Given the description of an element on the screen output the (x, y) to click on. 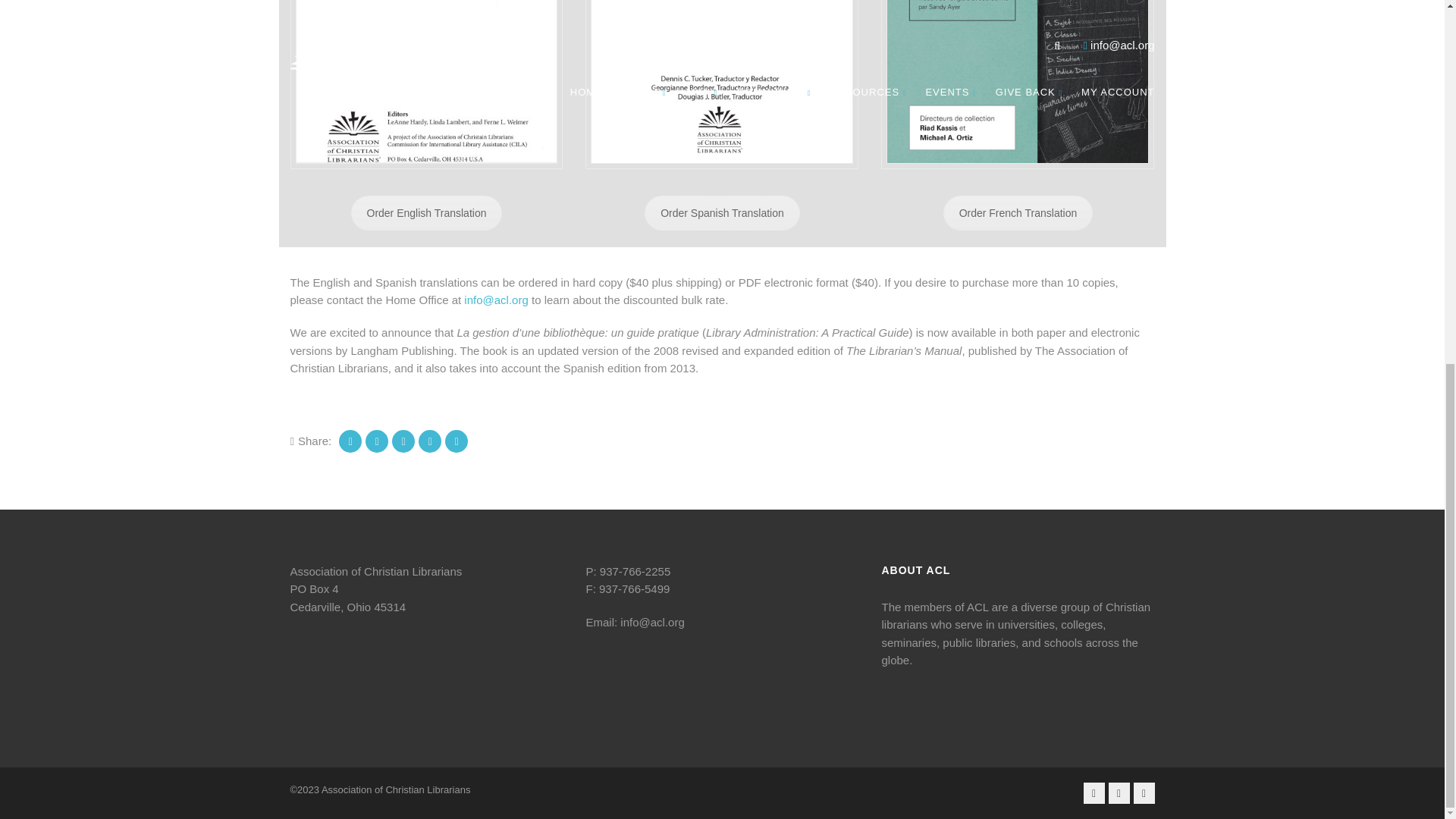
Librarian's Manual French (1017, 81)
Librarian's Manual English (426, 81)
Pin it (402, 440)
Share on Facebook (350, 440)
Email (456, 440)
Tweet (376, 440)
Share on Linkedin (430, 440)
